Given the description of an element on the screen output the (x, y) to click on. 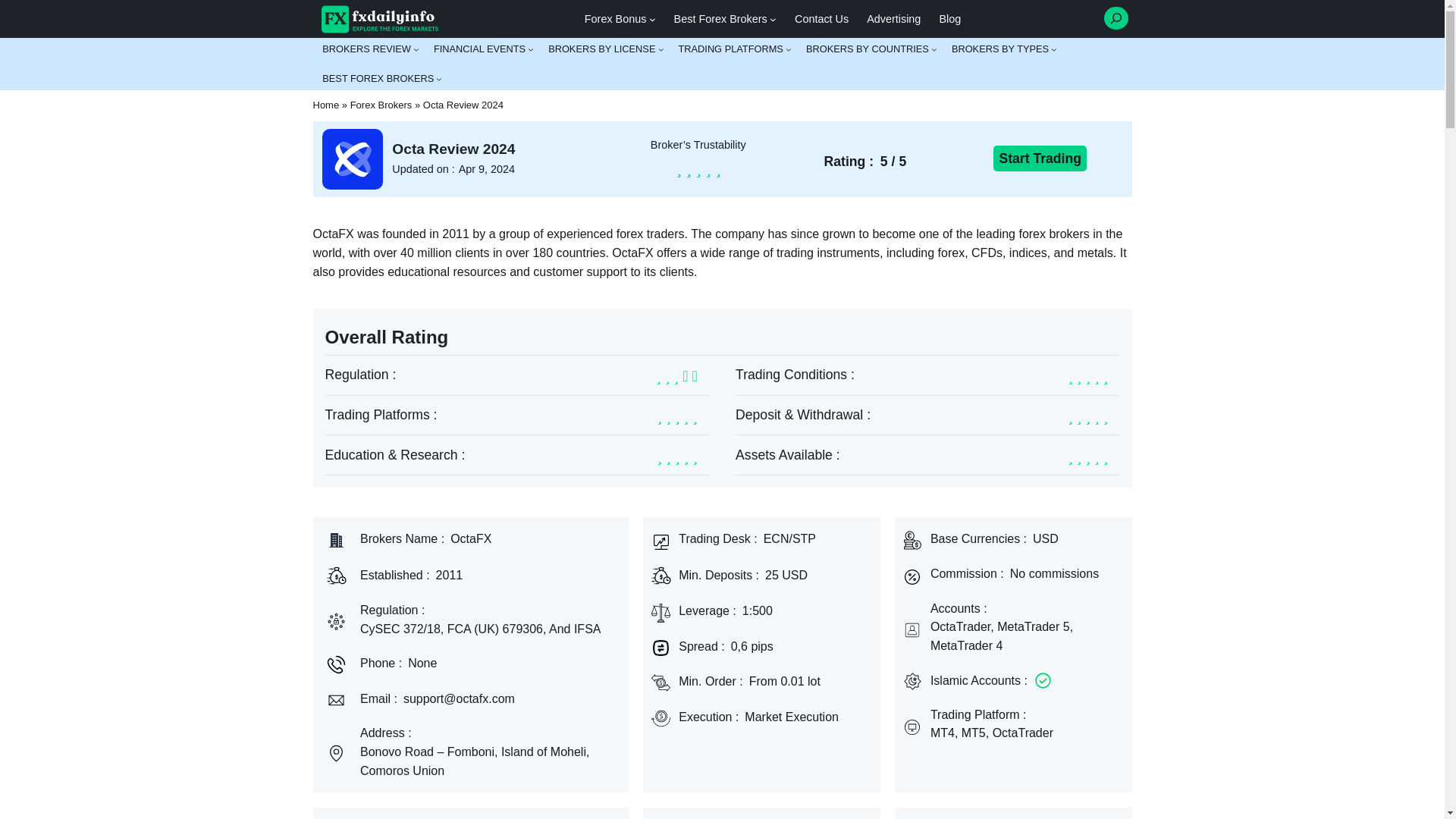
Forex Bonus (615, 18)
Advertising (893, 18)
FINANCIAL EVENTS (479, 48)
BROKERS REVIEW (365, 48)
Best Forex Brokers (720, 18)
Contact Us (821, 18)
Blog (949, 18)
BROKERS BY LICENSE (601, 48)
